Given the description of an element on the screen output the (x, y) to click on. 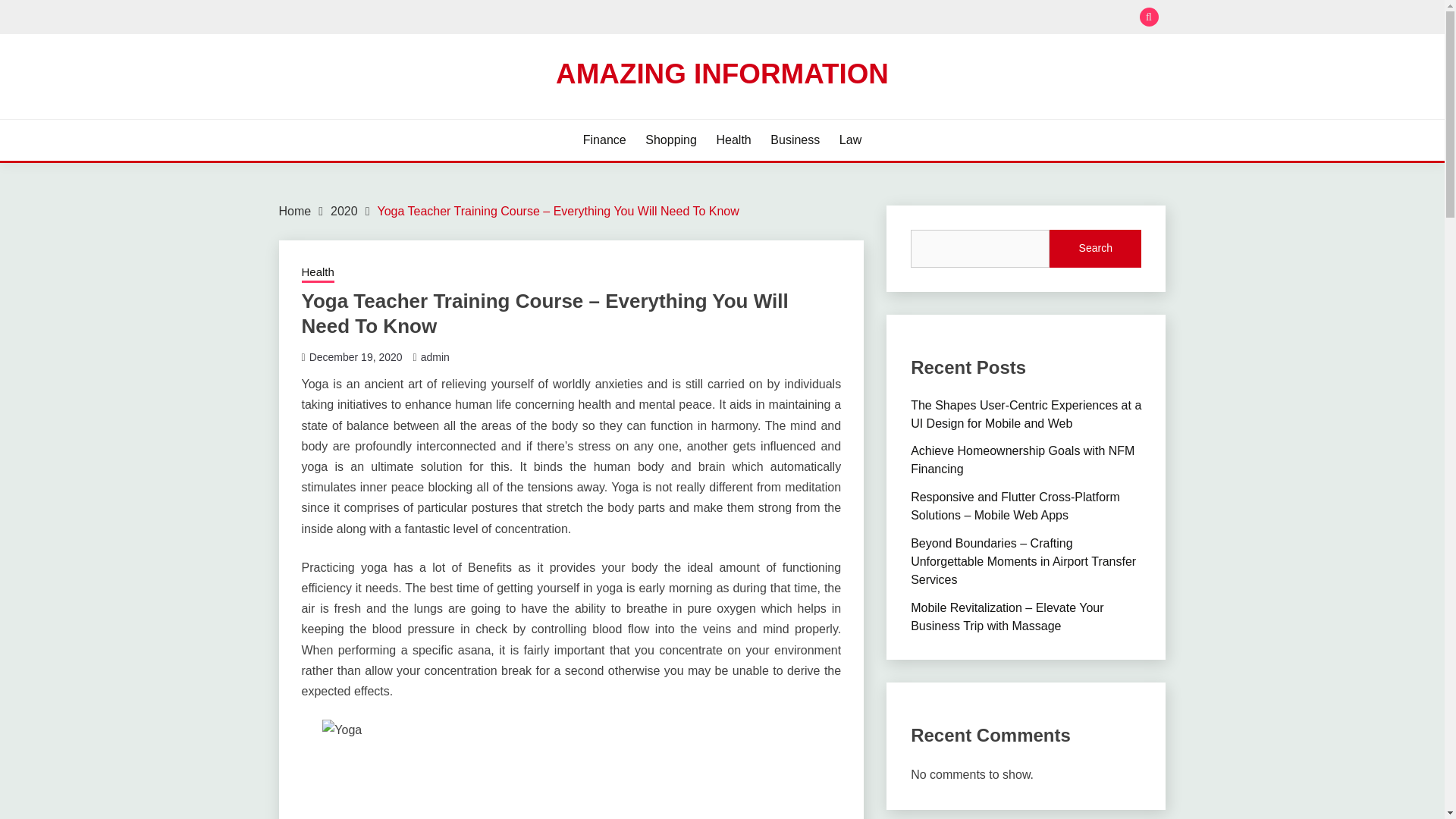
Search (1095, 248)
Health (733, 140)
Law (850, 140)
Finance (604, 140)
Business (794, 140)
Health (317, 273)
Home (295, 210)
Search (832, 18)
2020 (344, 210)
December 19, 2020 (355, 357)
Shopping (671, 140)
AMAZING INFORMATION (722, 73)
admin (434, 357)
Achieve Homeownership Goals with NFM Financing (1022, 459)
